Given the description of an element on the screen output the (x, y) to click on. 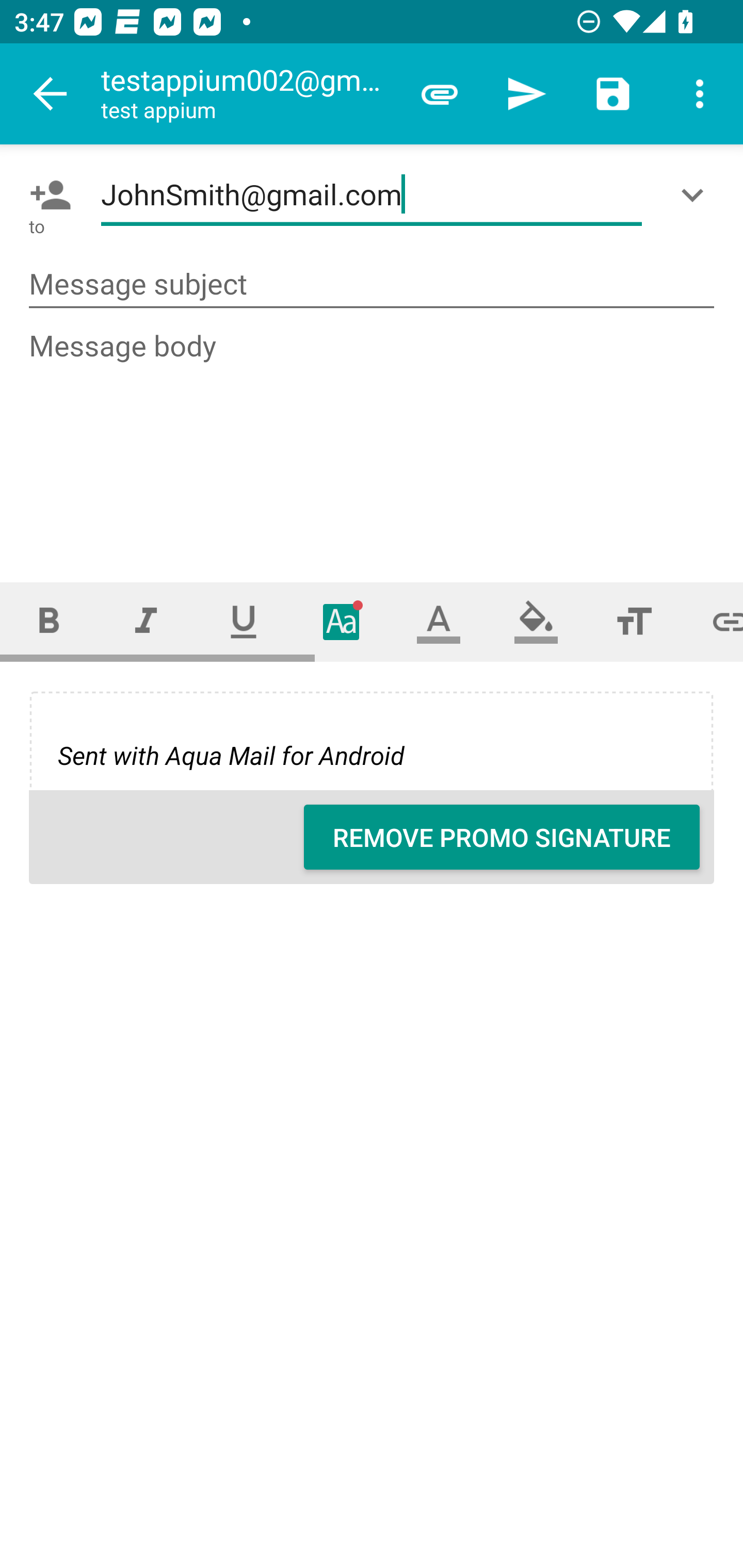
Navigate up (50, 93)
testappium002@gmail.com test appium (248, 93)
Attach (439, 93)
Send (525, 93)
Save (612, 93)
More options (699, 93)
Pick contact: To (46, 195)
Show/Add CC/BCC (696, 195)
JohnSmith@gmail.com (371, 195)
Message subject (371, 284)
Message body (372, 438)
Bold (48, 621)
Italic (145, 621)
Underline (243, 621)
Typeface (font) (341, 621)
Text color (438, 621)
Fill color (536, 621)
Font size (633, 621)
Set link (712, 621)
REMOVE PROMO SIGNATURE (501, 837)
